Given the description of an element on the screen output the (x, y) to click on. 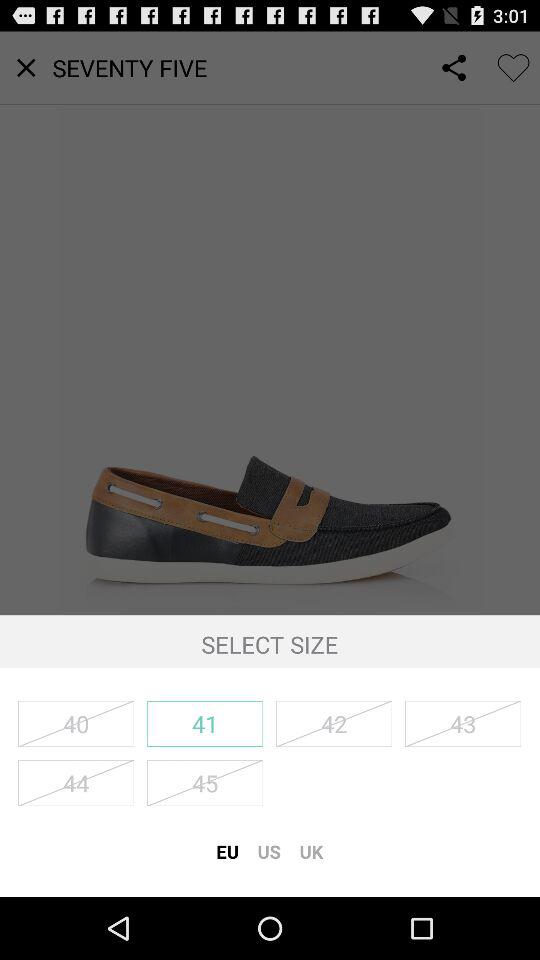
turn on item above the select size item (270, 323)
